Given the description of an element on the screen output the (x, y) to click on. 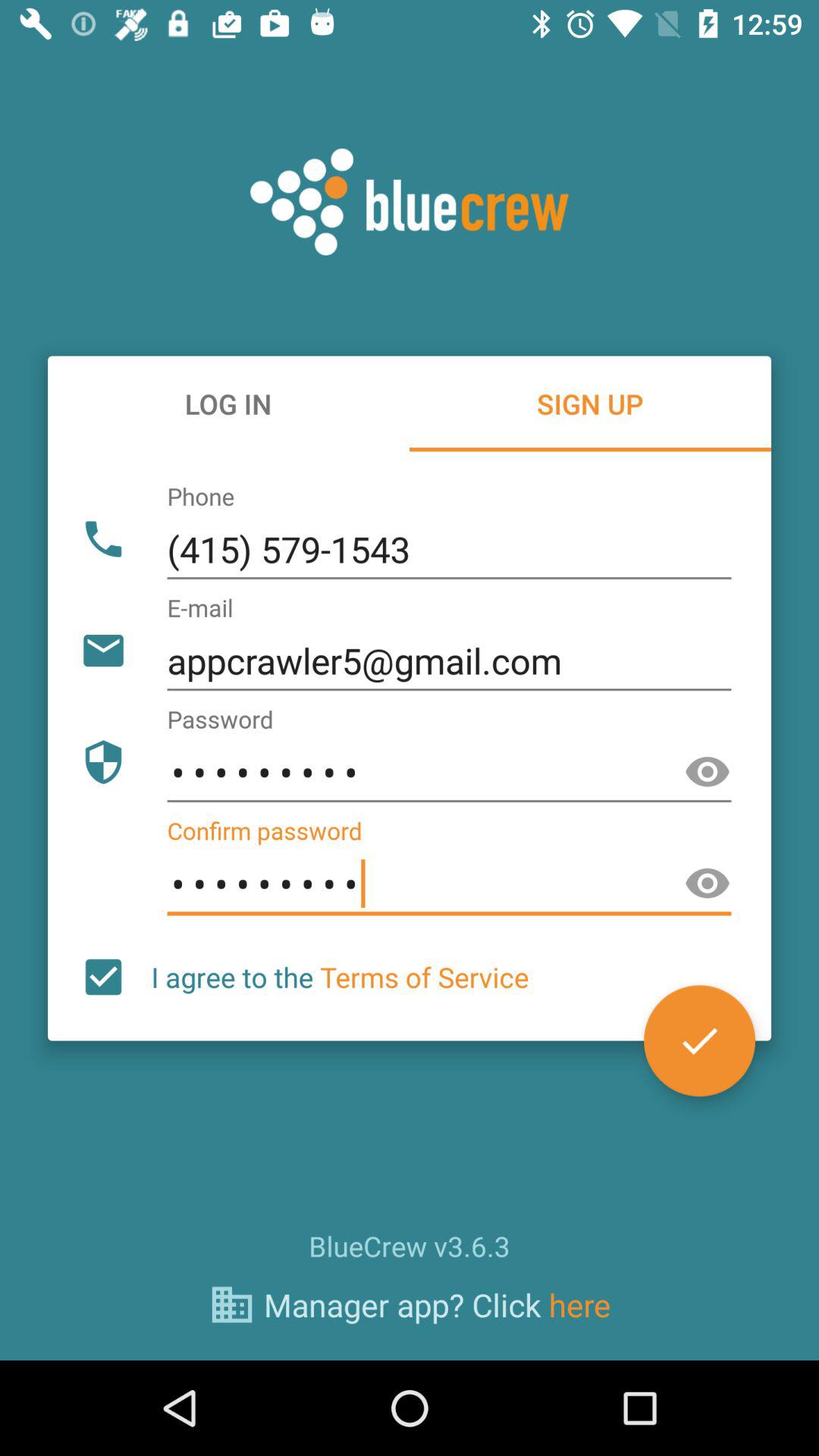
click the manager app click item (436, 1304)
